Given the description of an element on the screen output the (x, y) to click on. 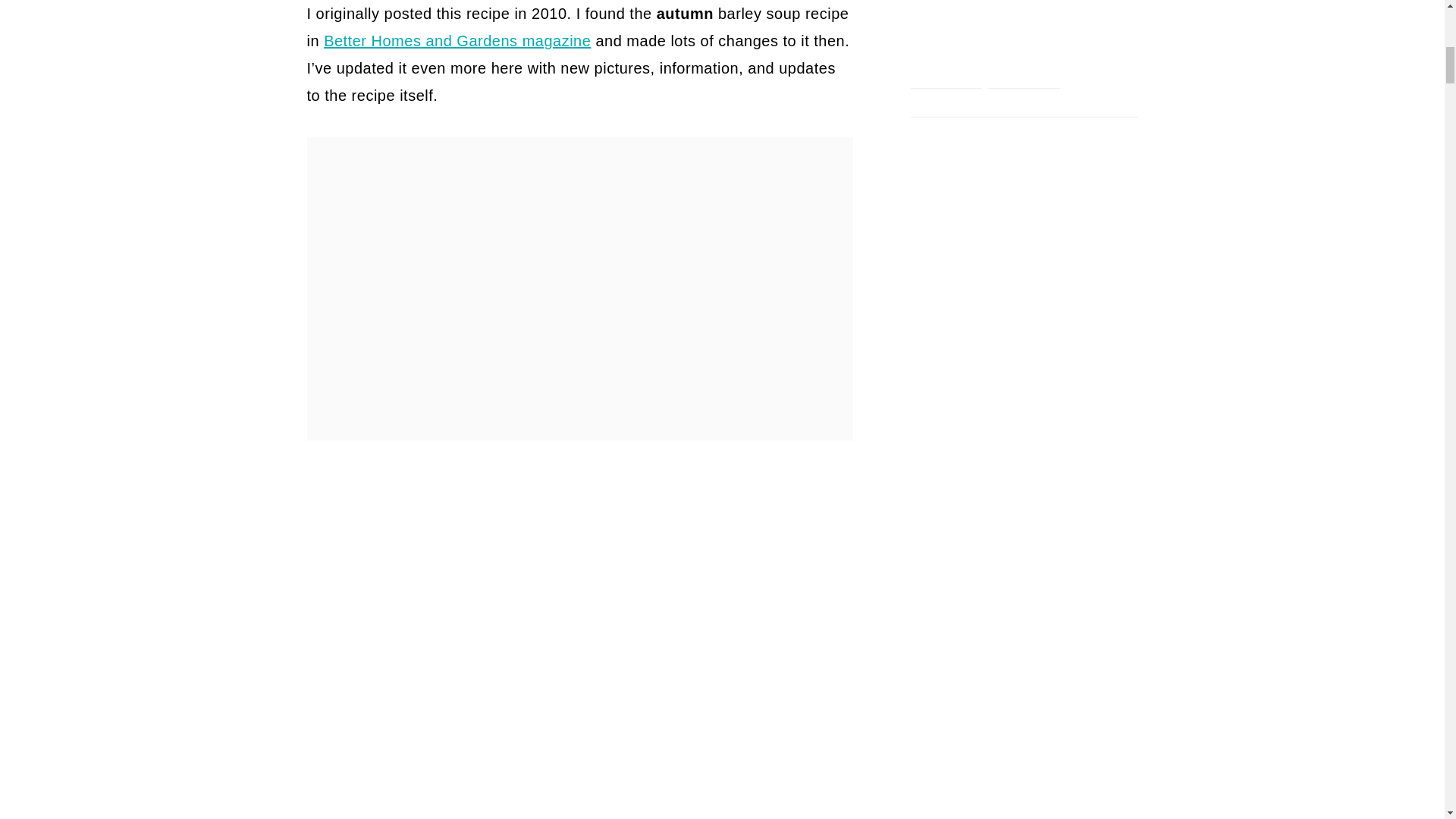
Better Homes and Gardens magazine (457, 40)
